Given the description of an element on the screen output the (x, y) to click on. 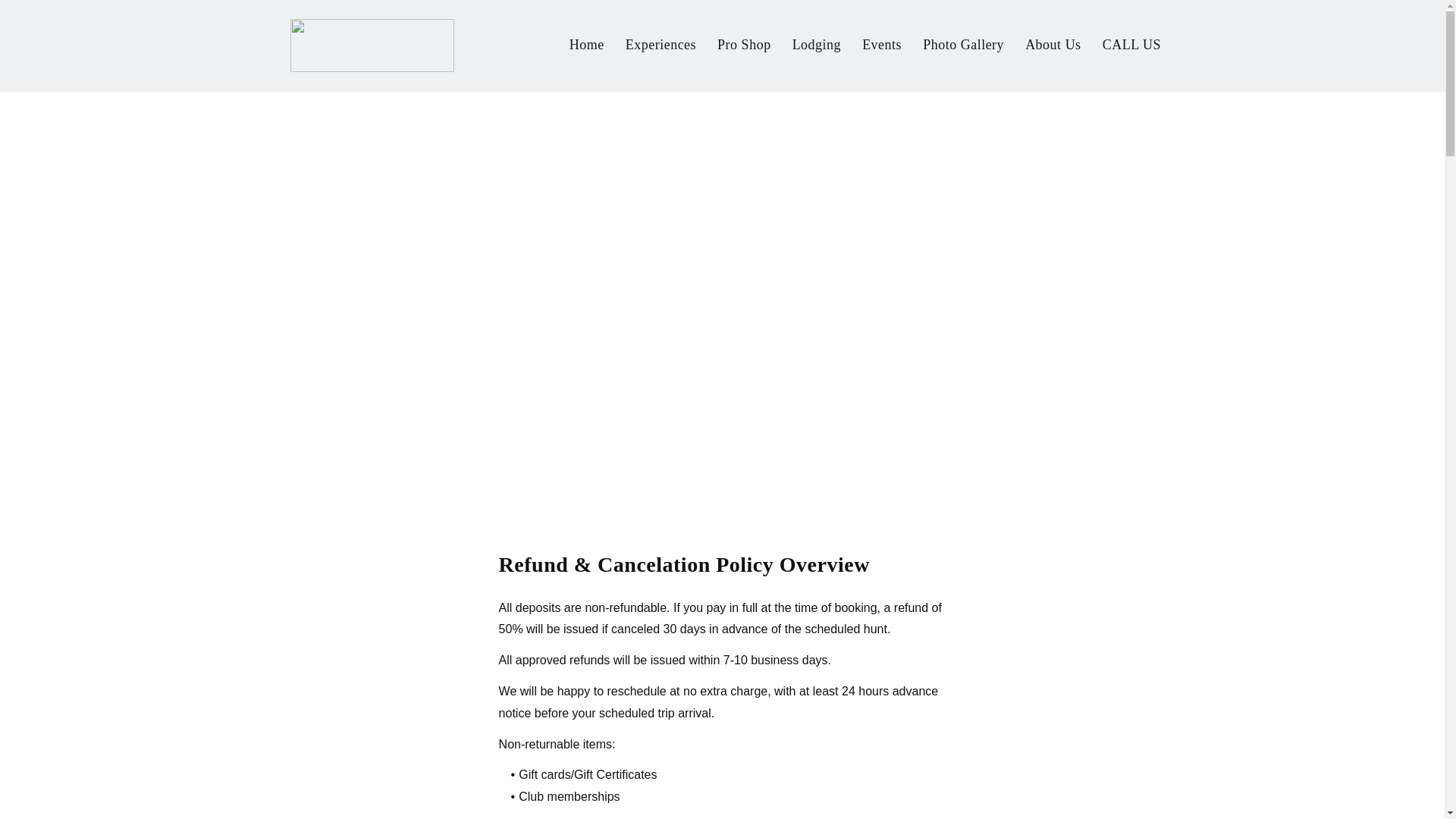
Events (882, 45)
Experiences (660, 45)
About Us (1053, 45)
Home (587, 45)
CALL US (1131, 45)
Pro Shop (743, 45)
Photo Gallery (962, 45)
Lodging (817, 45)
